Given the description of an element on the screen output the (x, y) to click on. 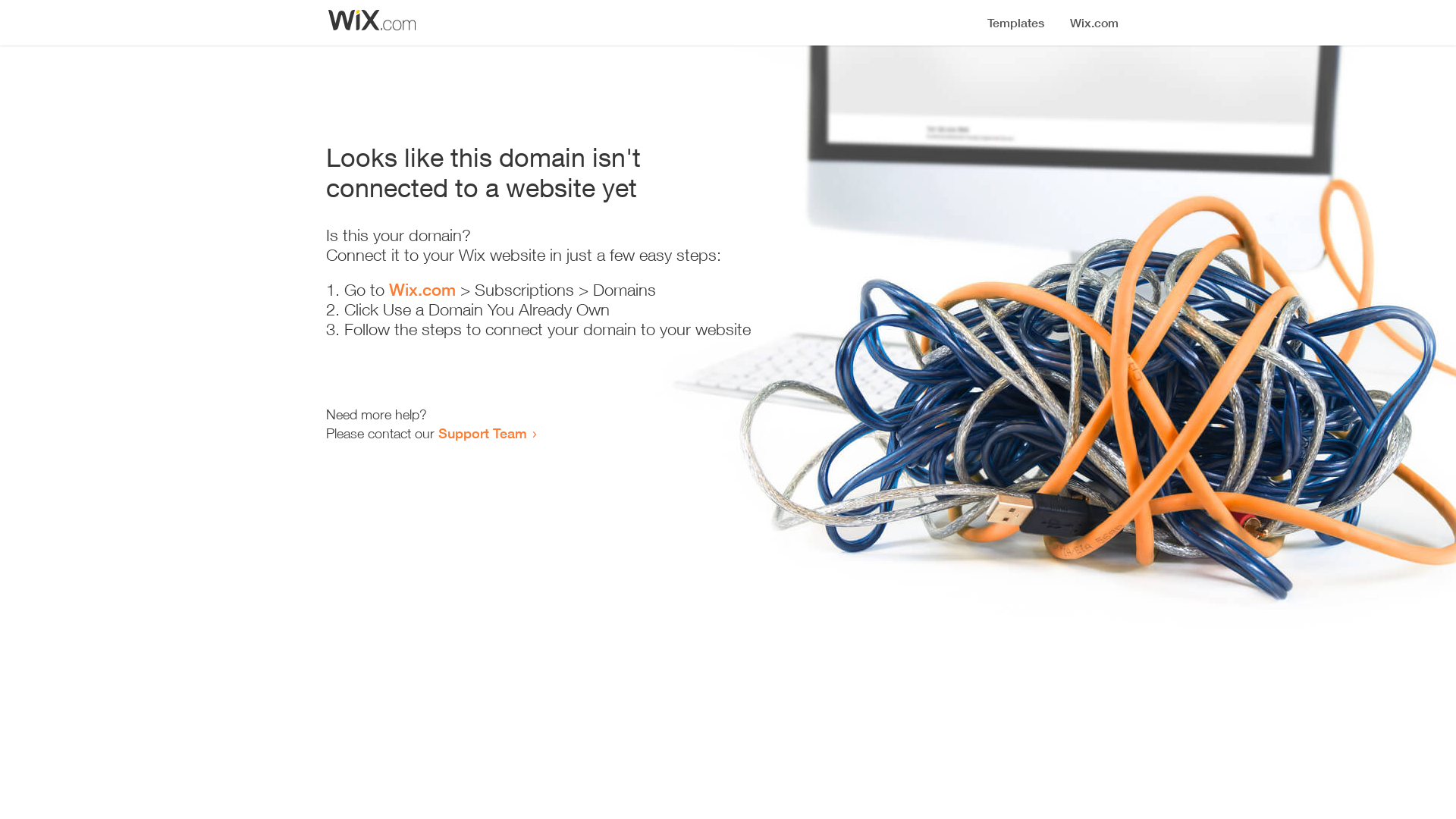
Wix.com Element type: text (422, 289)
Support Team Element type: text (482, 432)
